Given the description of an element on the screen output the (x, y) to click on. 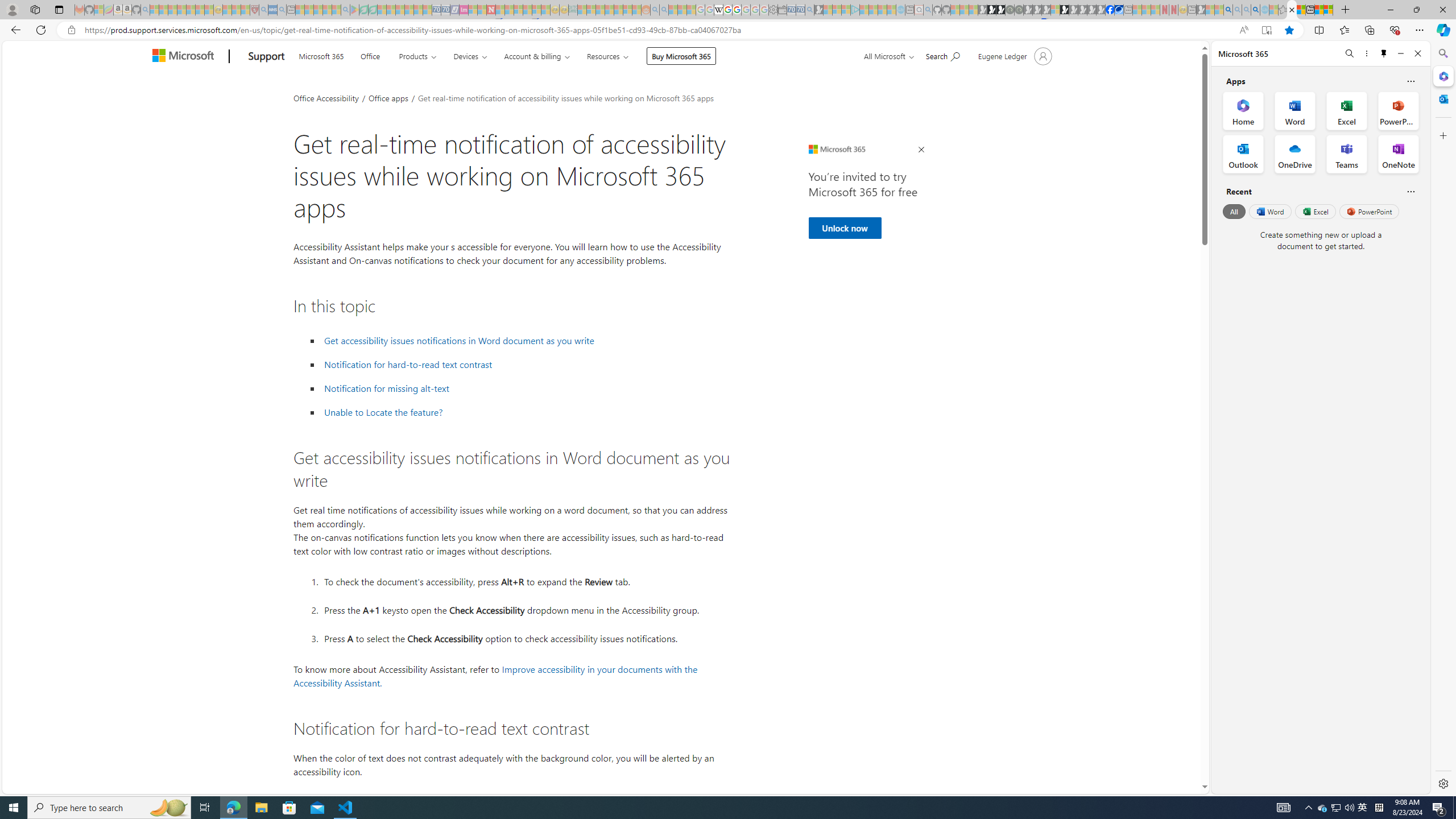
Sign in to your account - Sleeping (1054, 9)
Play Zoo Boom in your browser | Games from Microsoft Start (991, 9)
Teams Office App (1346, 154)
Account manager for Eugene Ledger (1014, 55)
